Given the description of an element on the screen output the (x, y) to click on. 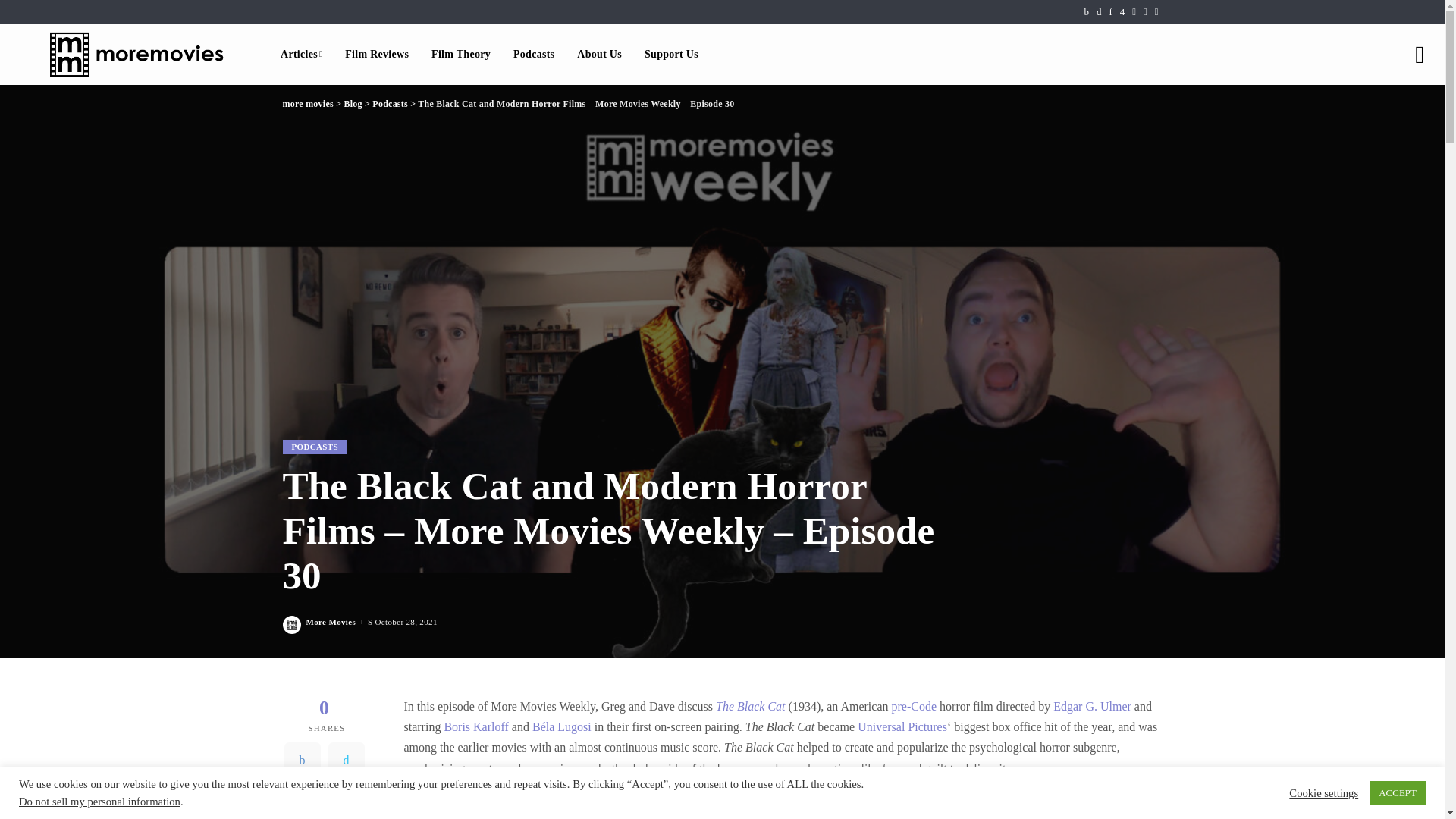
more movies (135, 54)
